Given the description of an element on the screen output the (x, y) to click on. 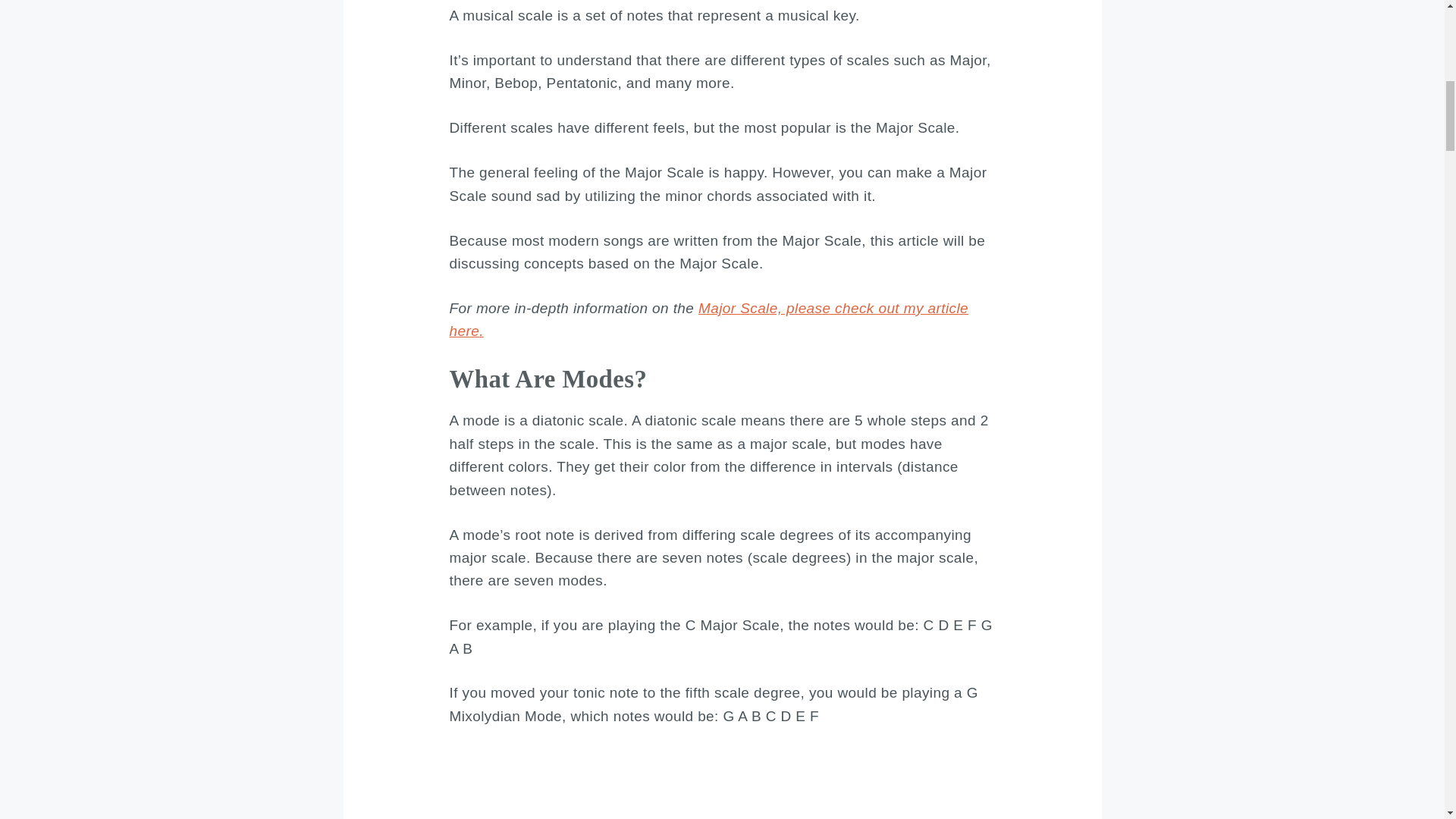
Major Scale, please check out my article here. (708, 319)
